Given the description of an element on the screen output the (x, y) to click on. 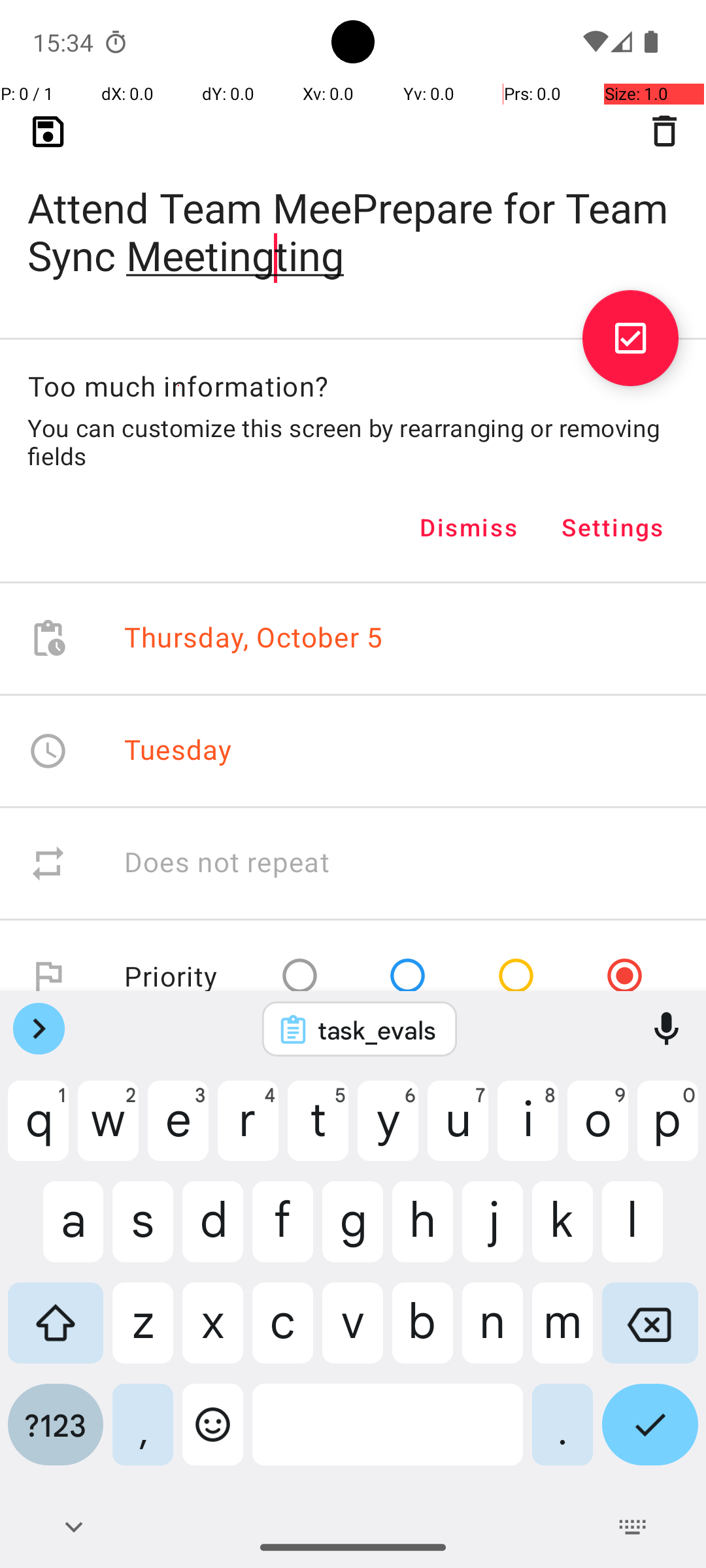
Attend Team MeePrepare for Team Sync Meetingting Element type: android.widget.EditText (353, 210)
Thursday, October 5 Element type: android.widget.TextView (253, 638)
